Given the description of an element on the screen output the (x, y) to click on. 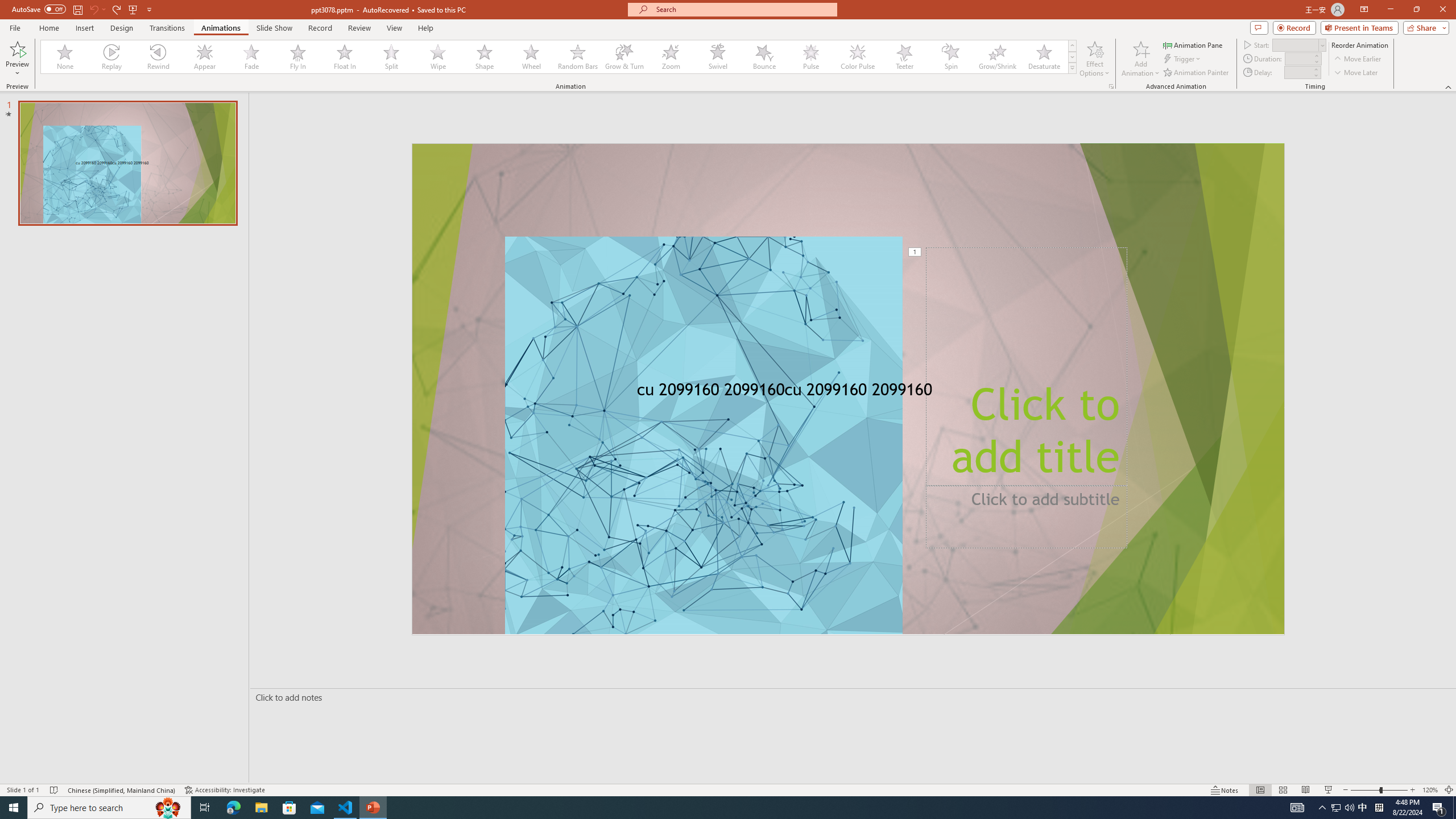
Desaturate (1043, 56)
Pulse (810, 56)
Effect Options (1094, 58)
None (65, 56)
Split (391, 56)
Fly In (298, 56)
Spin (950, 56)
Move Earlier (1357, 58)
